Given the description of an element on the screen output the (x, y) to click on. 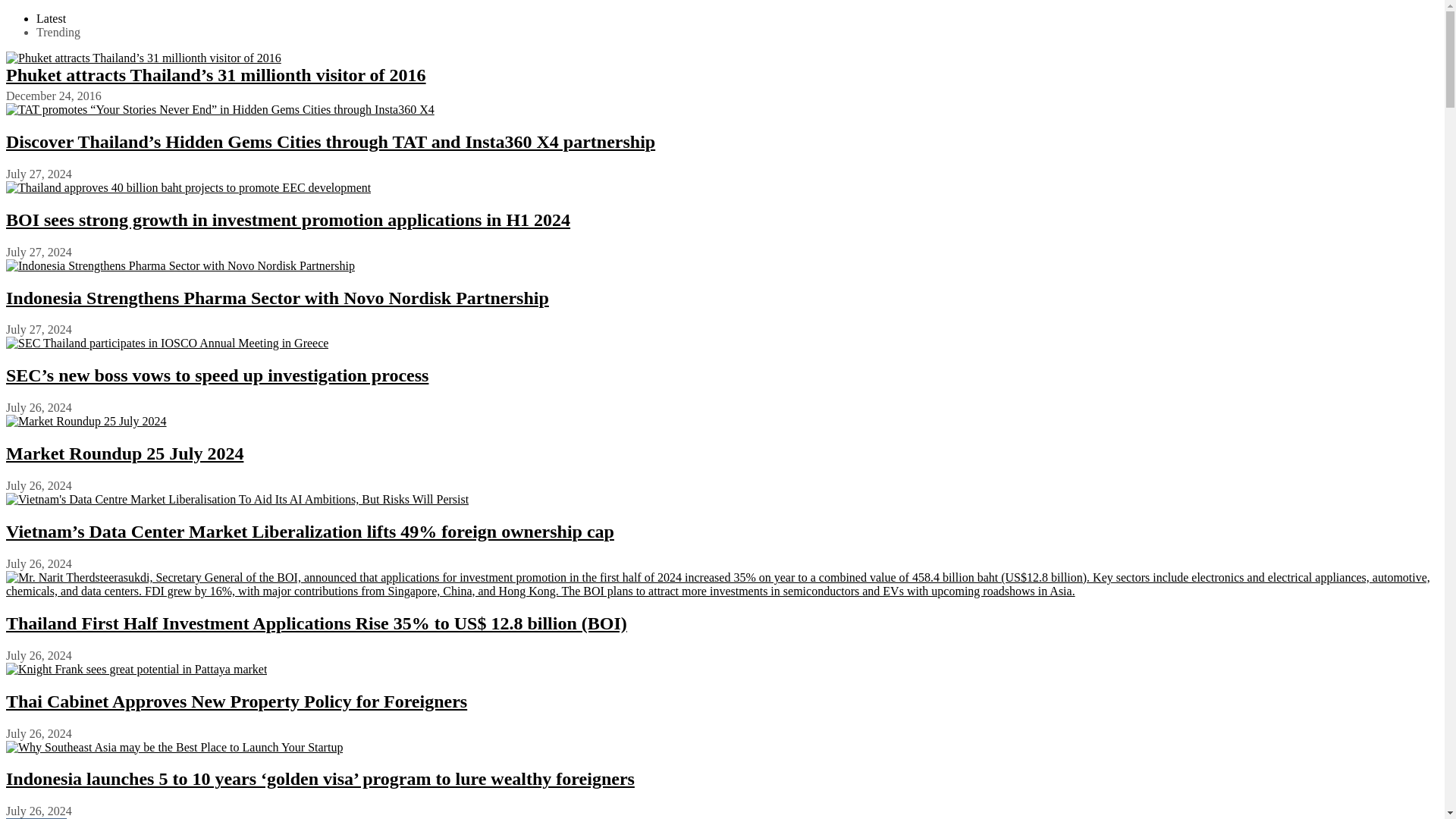
SEC's new boss vows to speed up investigation process 5 (167, 343)
Thai Cabinet Approves New Property Policy for Foreigners (236, 701)
Market Roundup 25 July 2024 6 (86, 421)
Thai Cabinet Approves New Property Policy for Foreigners 9 (135, 669)
Market Roundup 25 July 2024 (124, 453)
Load More (35, 818)
